Given the description of an element on the screen output the (x, y) to click on. 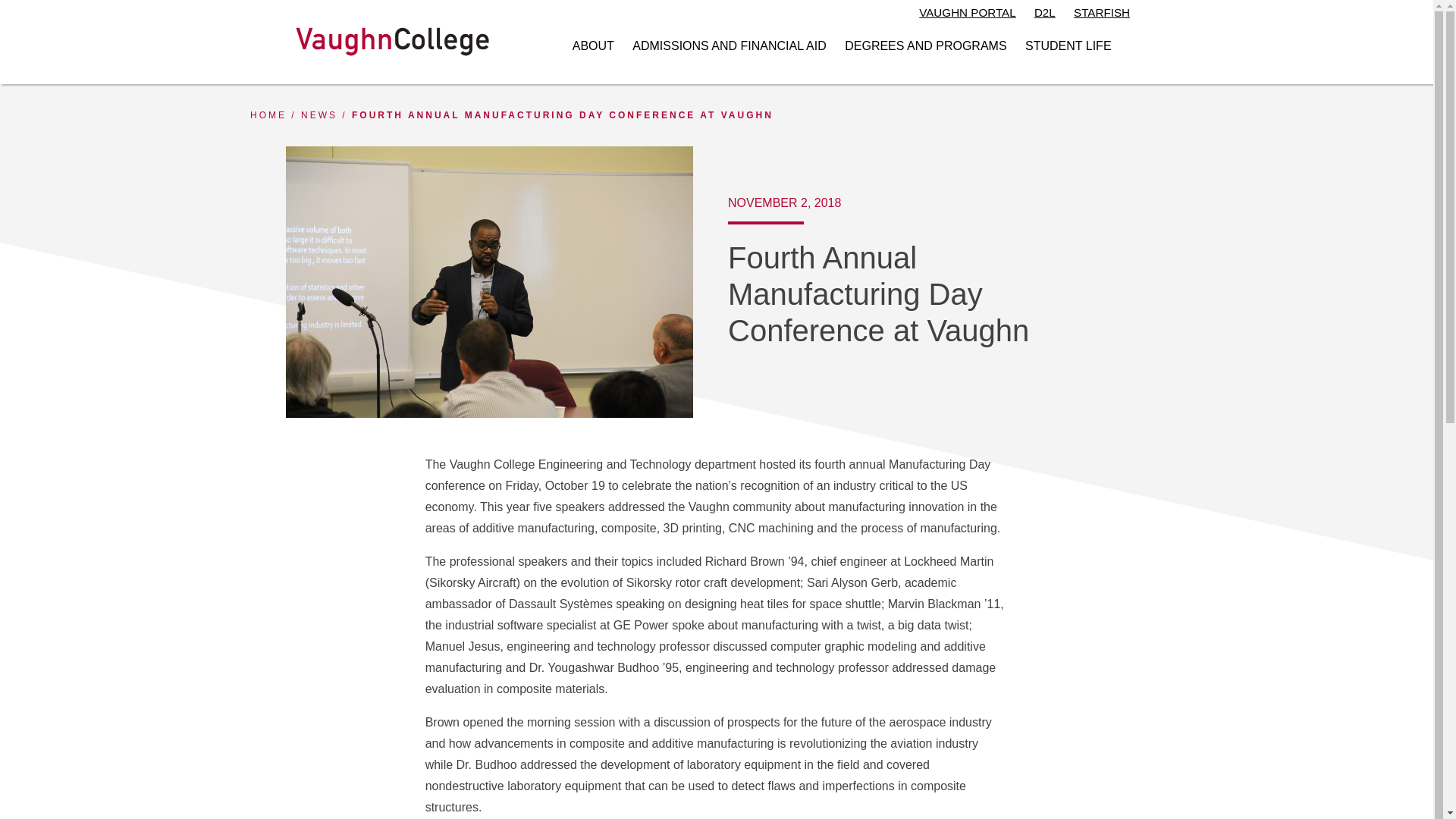
ADMISSIONS AND FINANCIAL AID (728, 46)
ABOUT (593, 46)
VAUGHN PORTAL (966, 14)
DEGREES AND PROGRAMS (925, 46)
STARFISH (1101, 14)
